Given the description of an element on the screen output the (x, y) to click on. 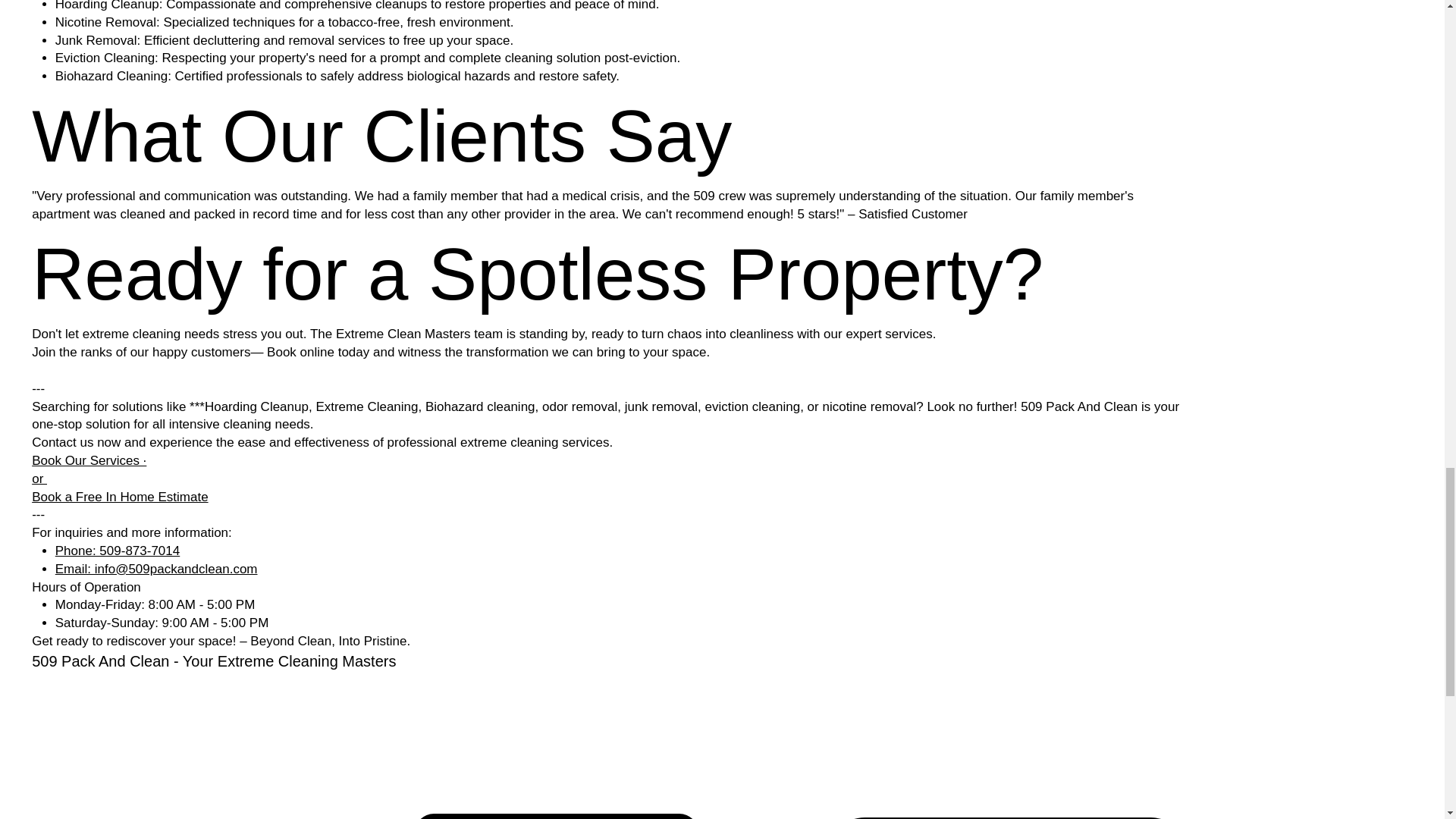
Free Quote (556, 816)
or  (39, 478)
Phone: 509-873-7014 (117, 550)
Book a Free In Home Estimate (120, 496)
